Given the description of an element on the screen output the (x, y) to click on. 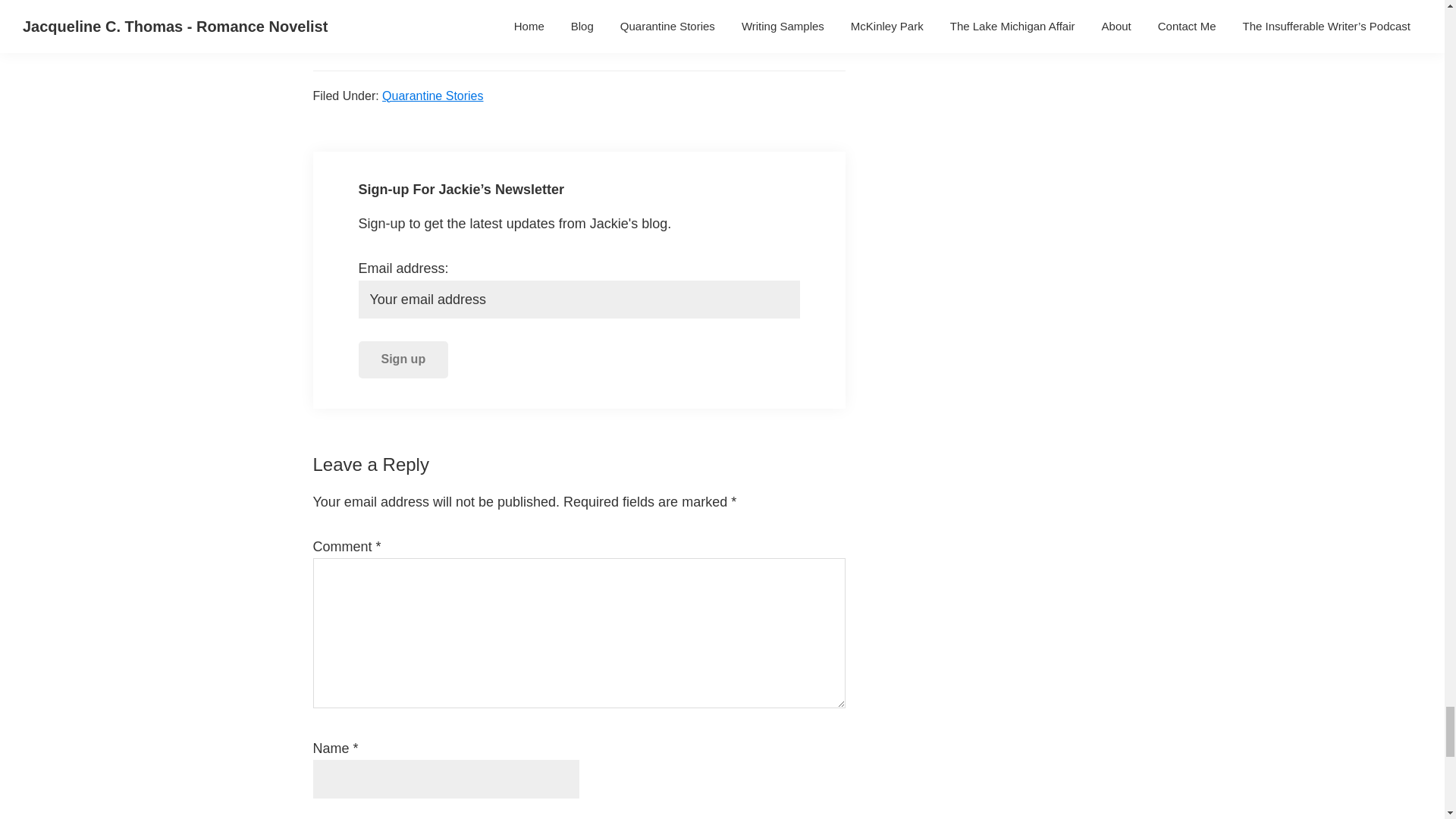
Sign up (403, 359)
Quarantine Stories (432, 95)
Sign up (403, 359)
